Given the description of an element on the screen output the (x, y) to click on. 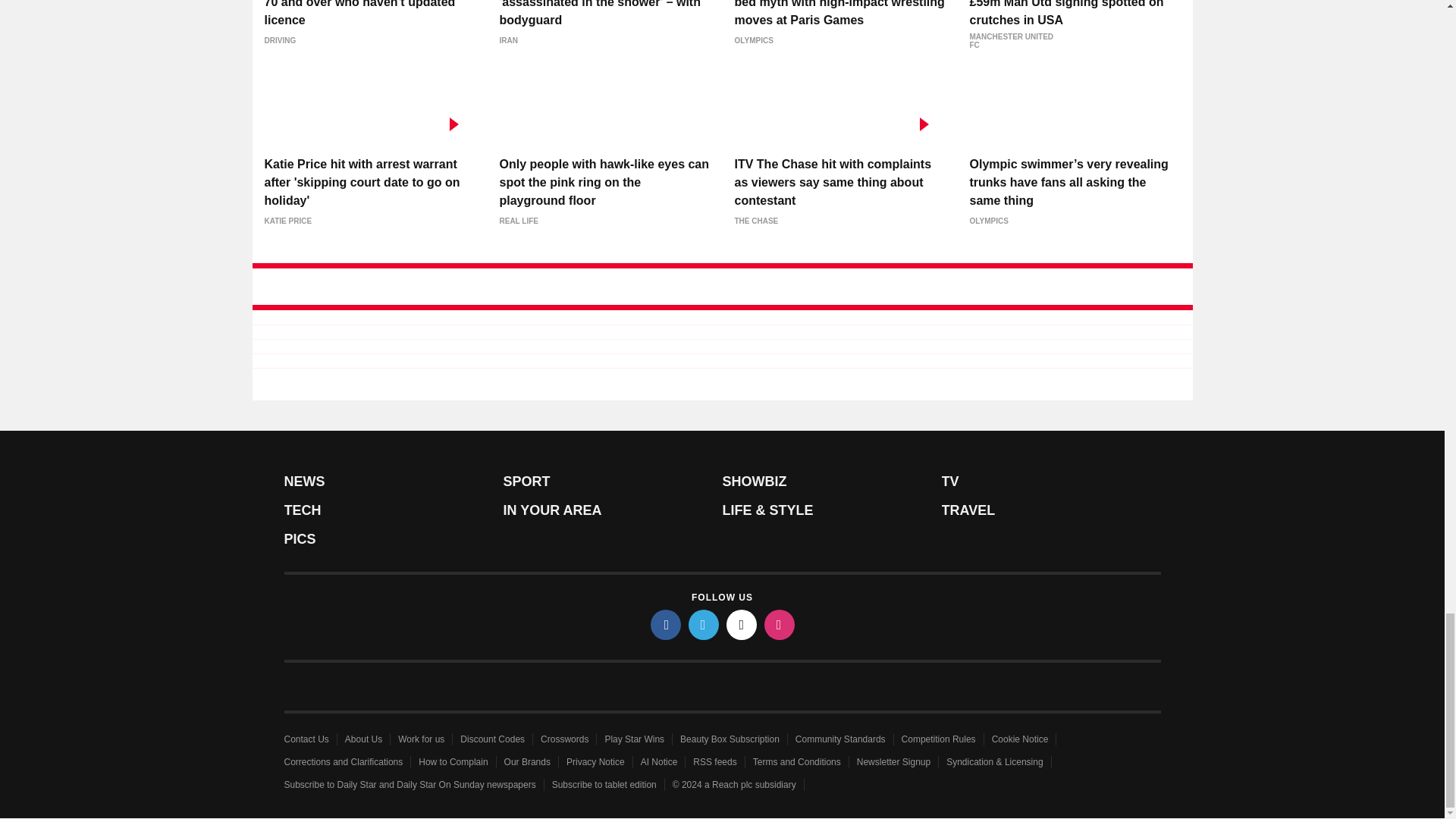
instagram (779, 624)
tiktok (741, 624)
twitter (703, 624)
facebook (665, 624)
